Given the description of an element on the screen output the (x, y) to click on. 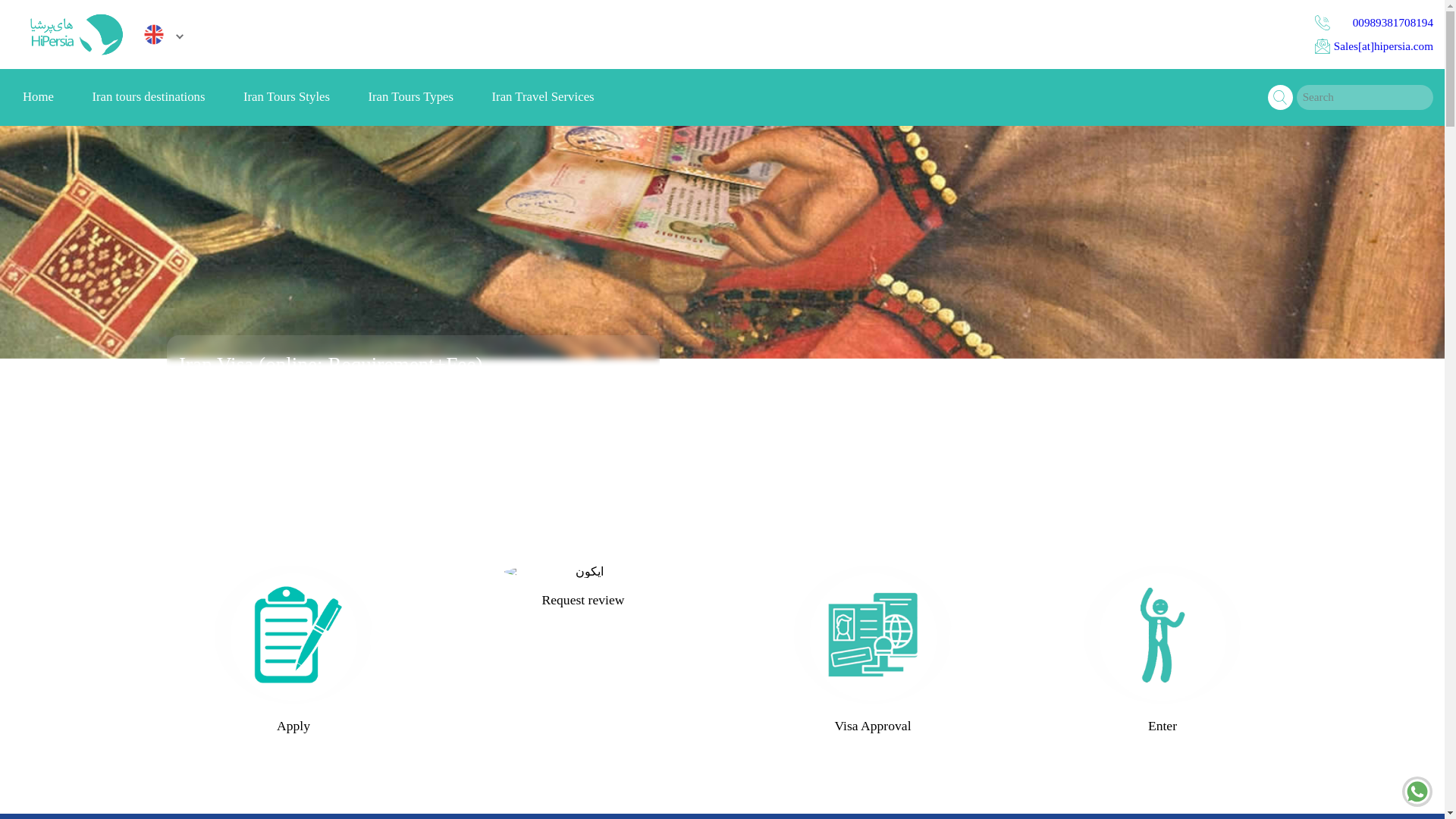
00989381708194 (1373, 22)
Iran tours destinations (148, 97)
Home (38, 97)
Iran tours destinations (148, 97)
HiPersia (74, 34)
Home (38, 97)
